Given the description of an element on the screen output the (x, y) to click on. 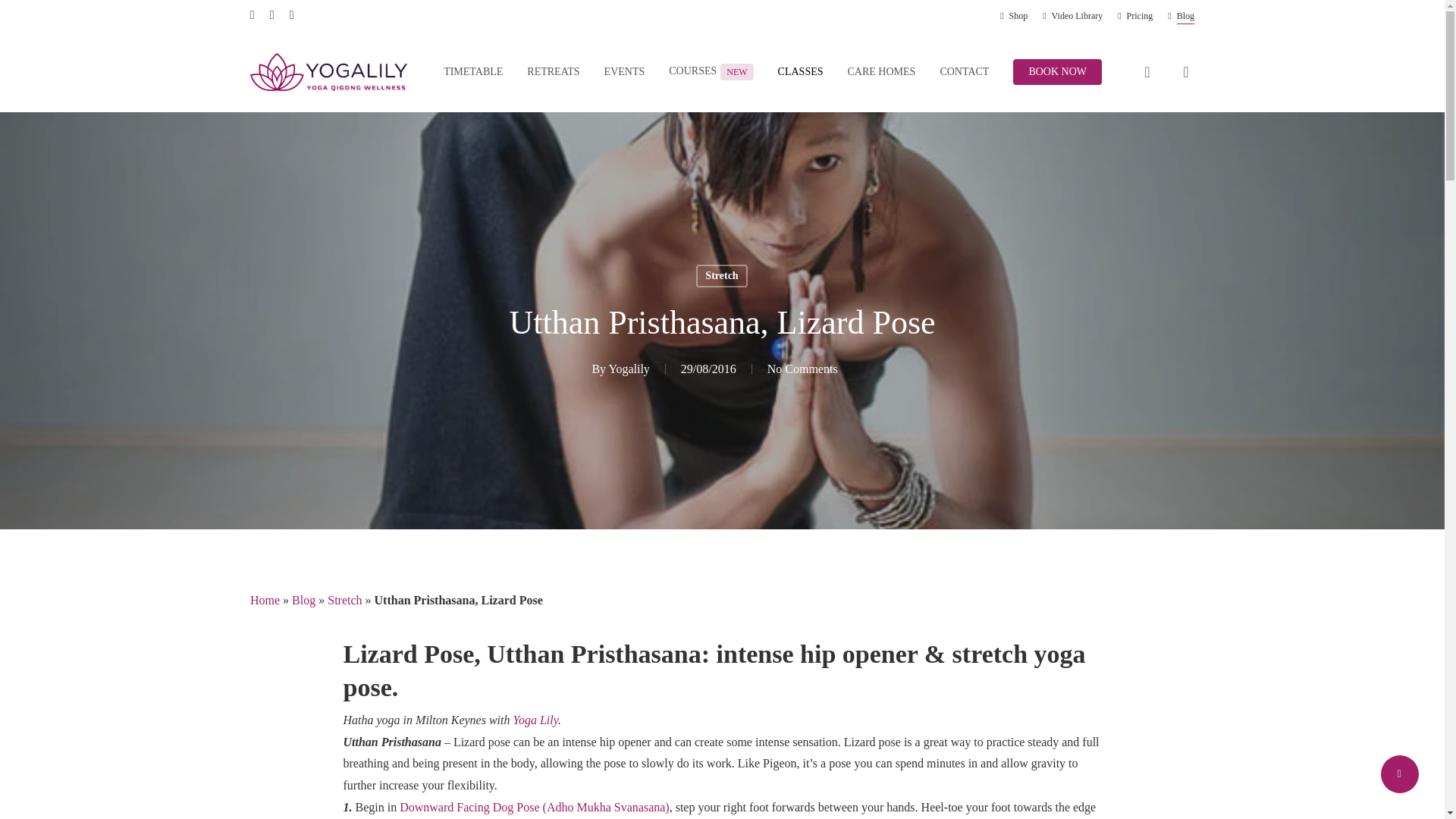
Yoga Lily on Facebook (534, 719)
CONTACT (963, 71)
EVENTS (624, 71)
Stretch (720, 275)
TIMETABLE (473, 71)
COURSESNEW (710, 71)
RETREATS (553, 71)
Adho Mukha Svanasana, Downward Facing Dog Pose (533, 807)
BOOK NOW (1057, 71)
search (1147, 71)
